Given the description of an element on the screen output the (x, y) to click on. 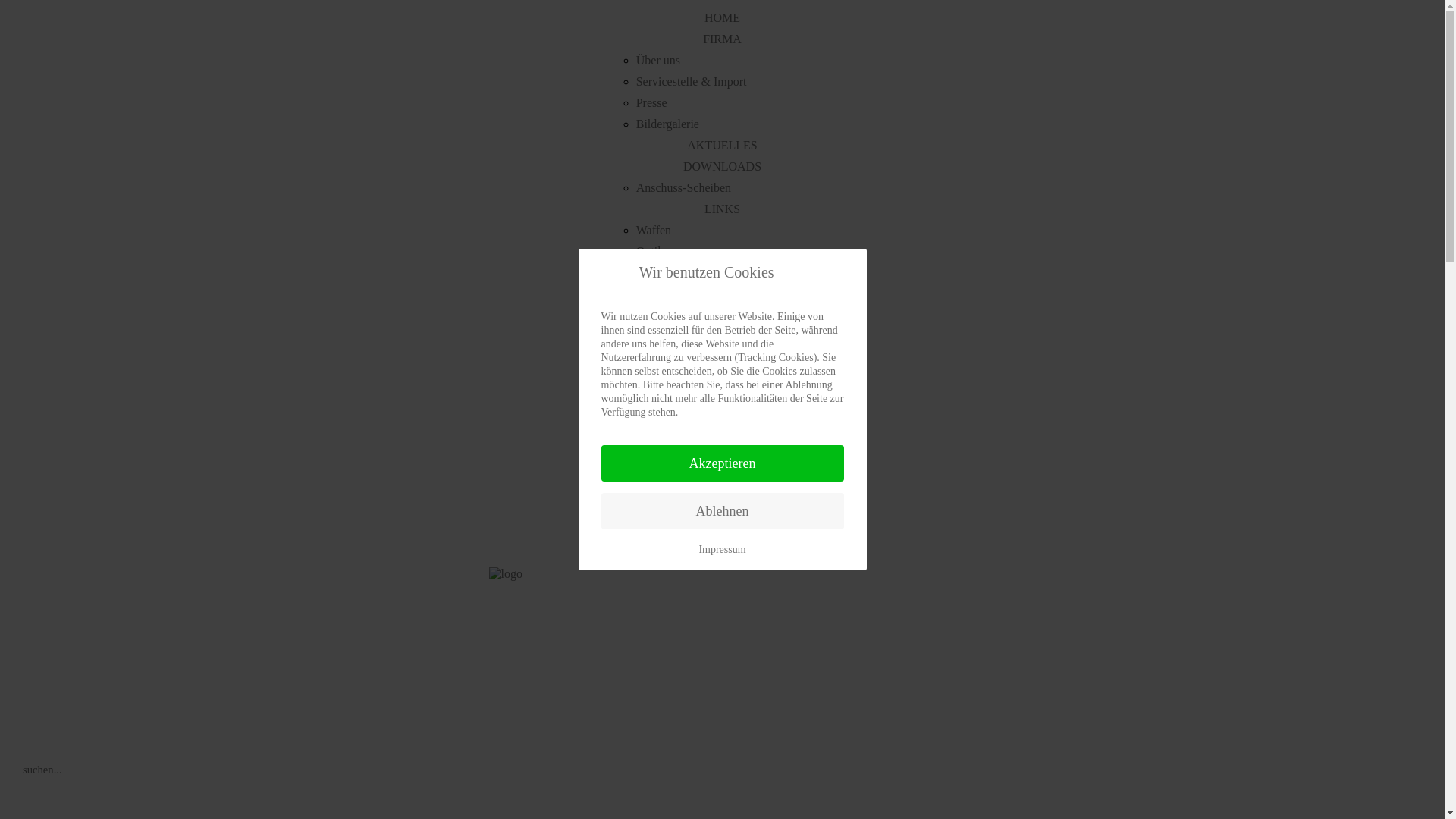
Optik Element type: text (649, 250)
AKTUELLES Element type: text (721, 144)
Terminkalender Element type: text (674, 526)
Medien Element type: text (654, 293)
Anfahrt Element type: text (655, 463)
Formulare / Gesuche Element type: text (686, 314)
Sonstiges Element type: text (659, 420)
KONTAKT Element type: text (721, 442)
Google Element type: hover (18, 492)
FIRMA Element type: text (721, 38)
Facebook Element type: hover (18, 463)
Servicestelle & Import Element type: text (691, 81)
Ablehnen Element type: text (721, 510)
Anschuss-Scheiben Element type: text (683, 187)
Bildergalerie Element type: text (667, 123)
Anfragen Element type: text (658, 484)
Waffen Element type: text (653, 229)
Waffen Element type: text (19, 621)
Anfahrt Element type: hover (18, 434)
Werkstatt Element type: text (26, 597)
LINKS Element type: text (722, 208)
Occasionen Element type: text (31, 645)
Presse Element type: text (651, 102)
DOWNLOADS Element type: text (722, 166)
Munition Element type: text (658, 272)
Munition Element type: text (25, 741)
Optik Element type: text (15, 693)
Home Element type: hover (18, 405)
IMPRESSUM Element type: text (721, 548)
HOME Element type: text (722, 17)
Akzeptieren Element type: text (721, 463)
Links International Element type: text (682, 357)
Impressum Element type: text (721, 549)
Gesetze Element type: text (655, 399)
